Given the description of an element on the screen output the (x, y) to click on. 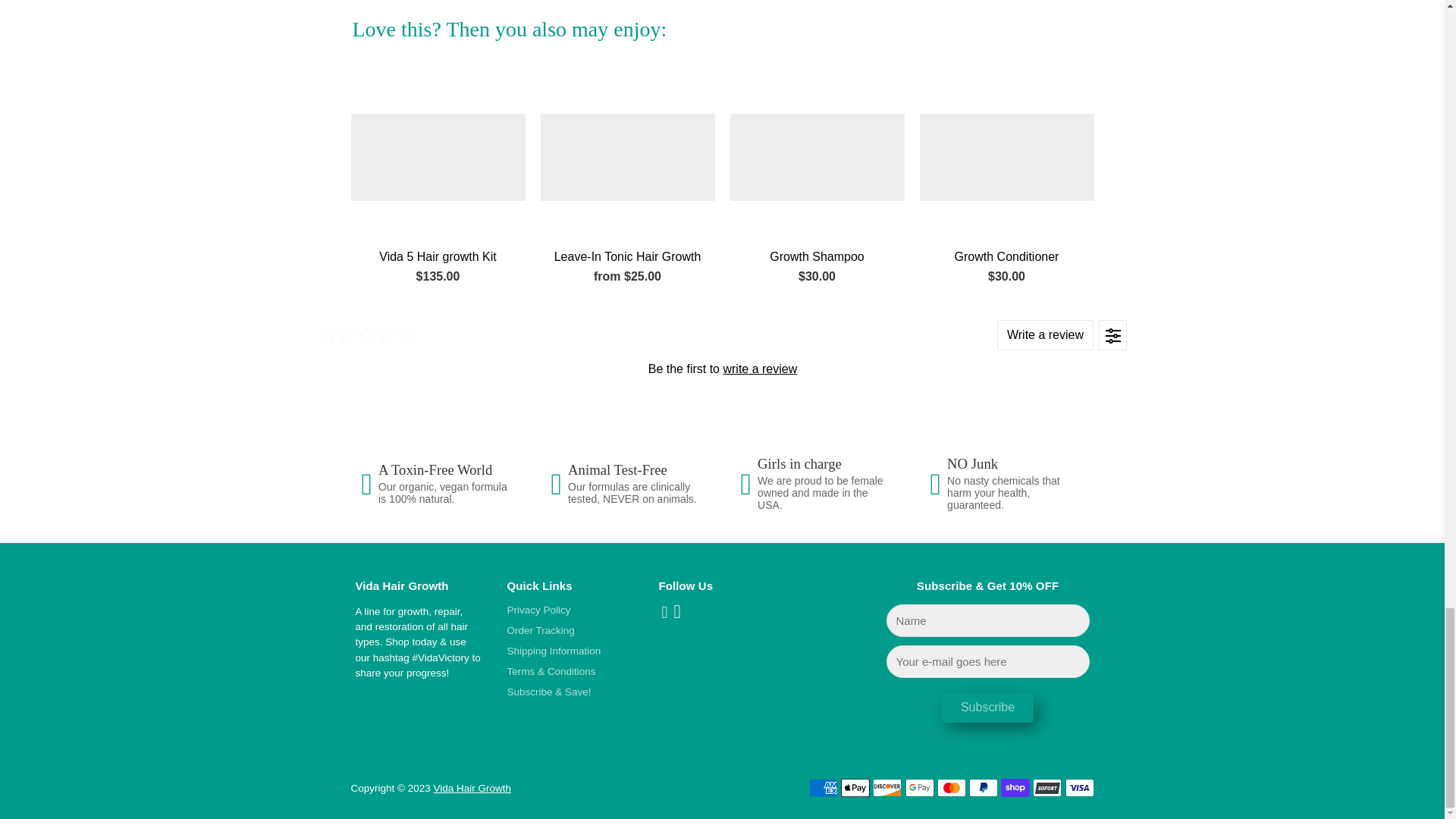
PayPal (983, 787)
American Express (823, 787)
Shop Pay (1015, 787)
Mastercard (951, 787)
Discover (886, 787)
Product reviews widget (722, 348)
Visa (1078, 787)
SOFORT (1046, 787)
Apple Pay (855, 787)
Google Pay (919, 787)
